Given the description of an element on the screen output the (x, y) to click on. 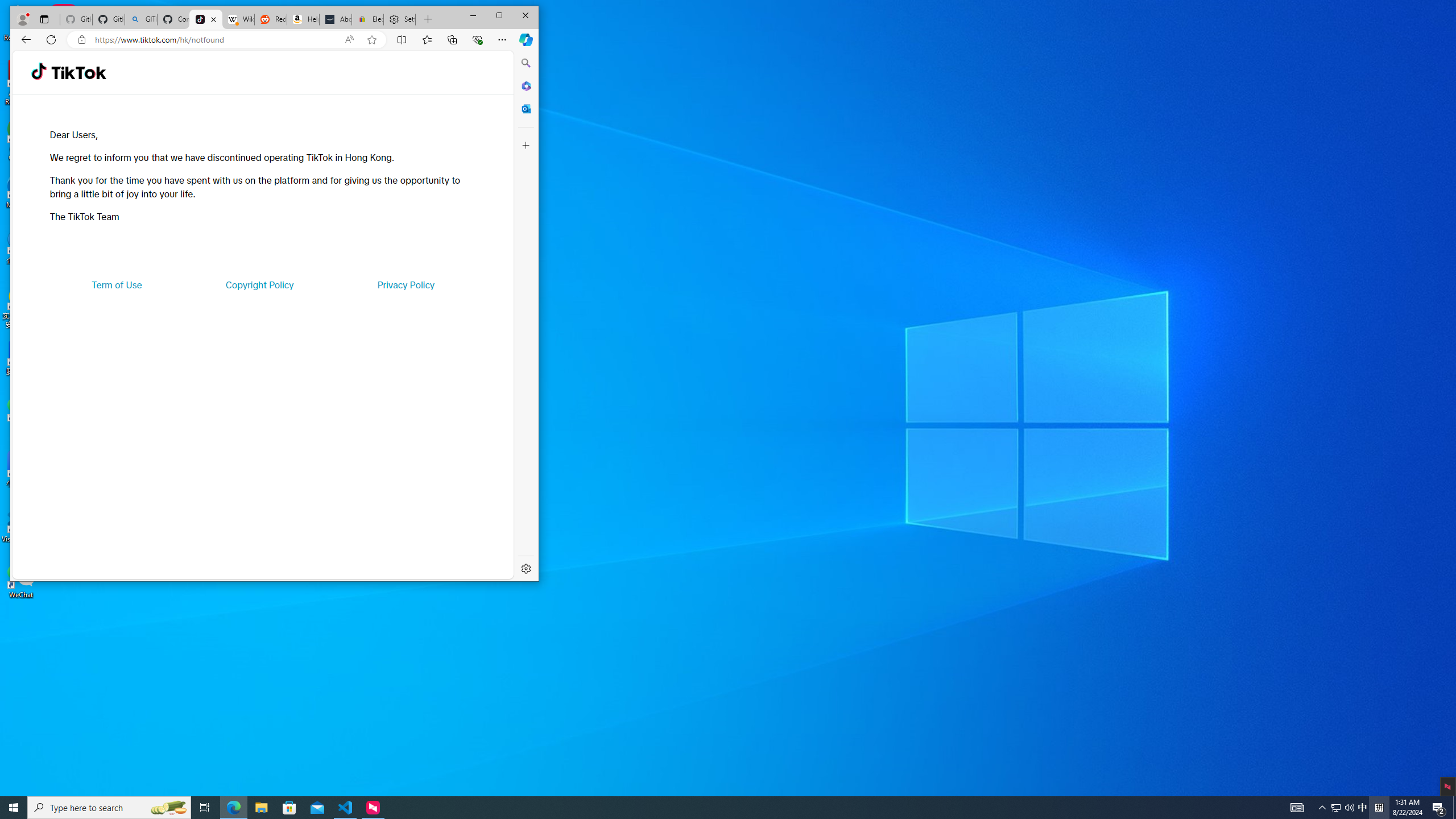
Show desktop (1454, 807)
Visual Studio Code - 1 running window (345, 807)
Start (13, 807)
